Given the description of an element on the screen output the (x, y) to click on. 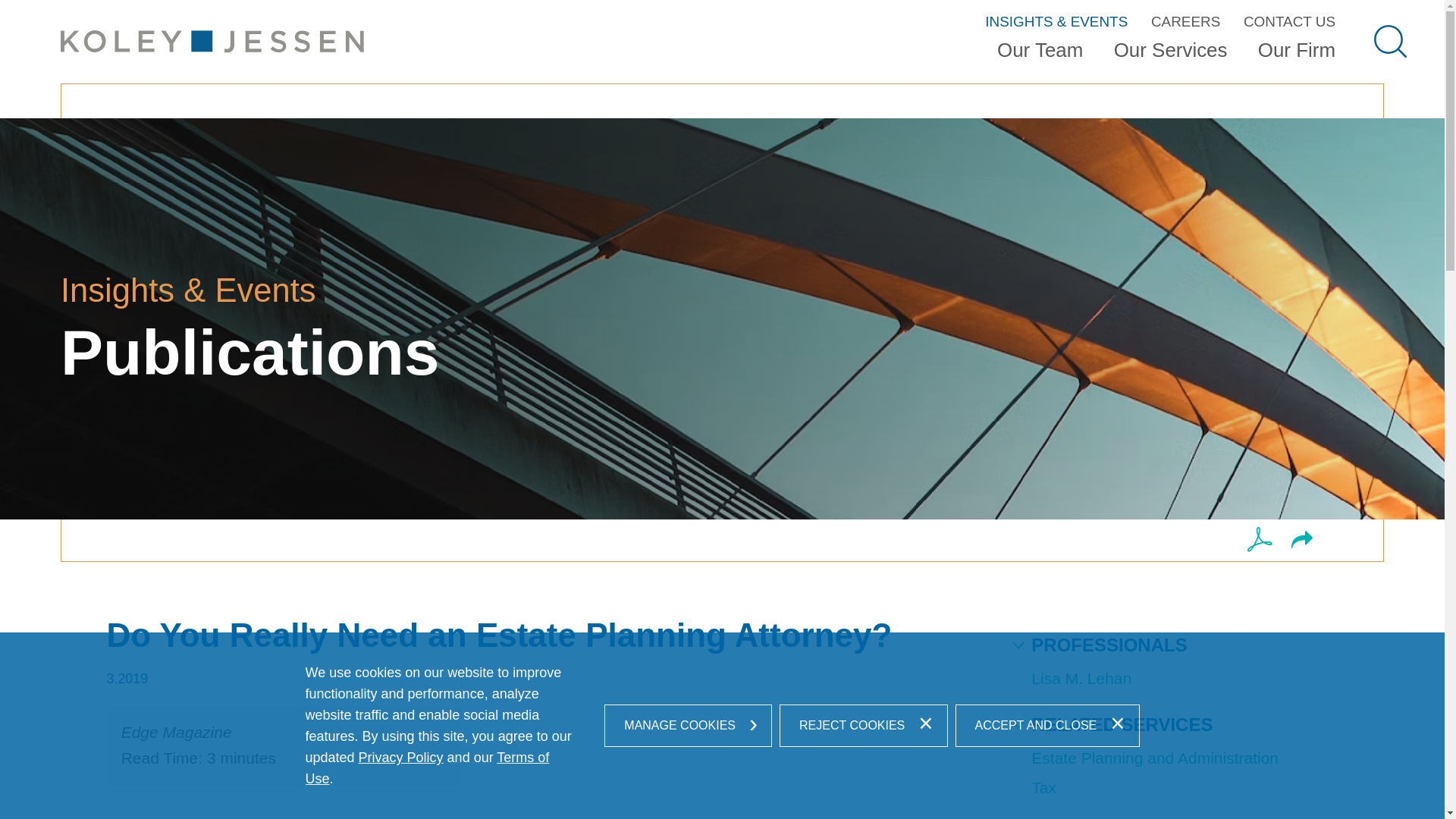
Tax (1043, 787)
Main Content (663, 20)
Menu (671, 20)
Our Firm (1296, 54)
PDF (1259, 539)
Share (1302, 539)
Our Services (1170, 54)
PROFESSIONALS (1098, 645)
Share (1302, 540)
RELATED SERVICES (1111, 724)
